Given the description of an element on the screen output the (x, y) to click on. 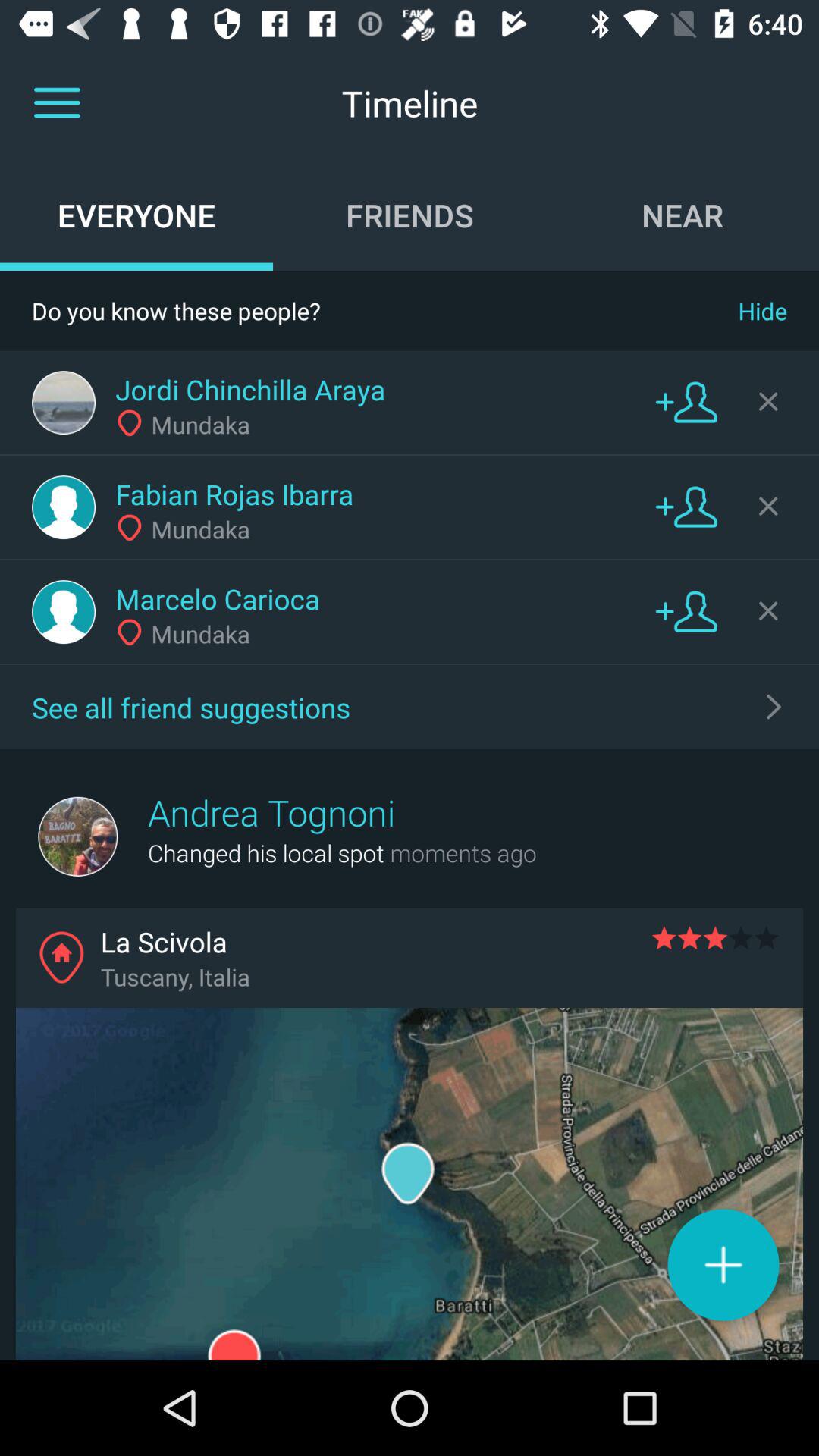
create post (723, 1264)
